Given the description of an element on the screen output the (x, y) to click on. 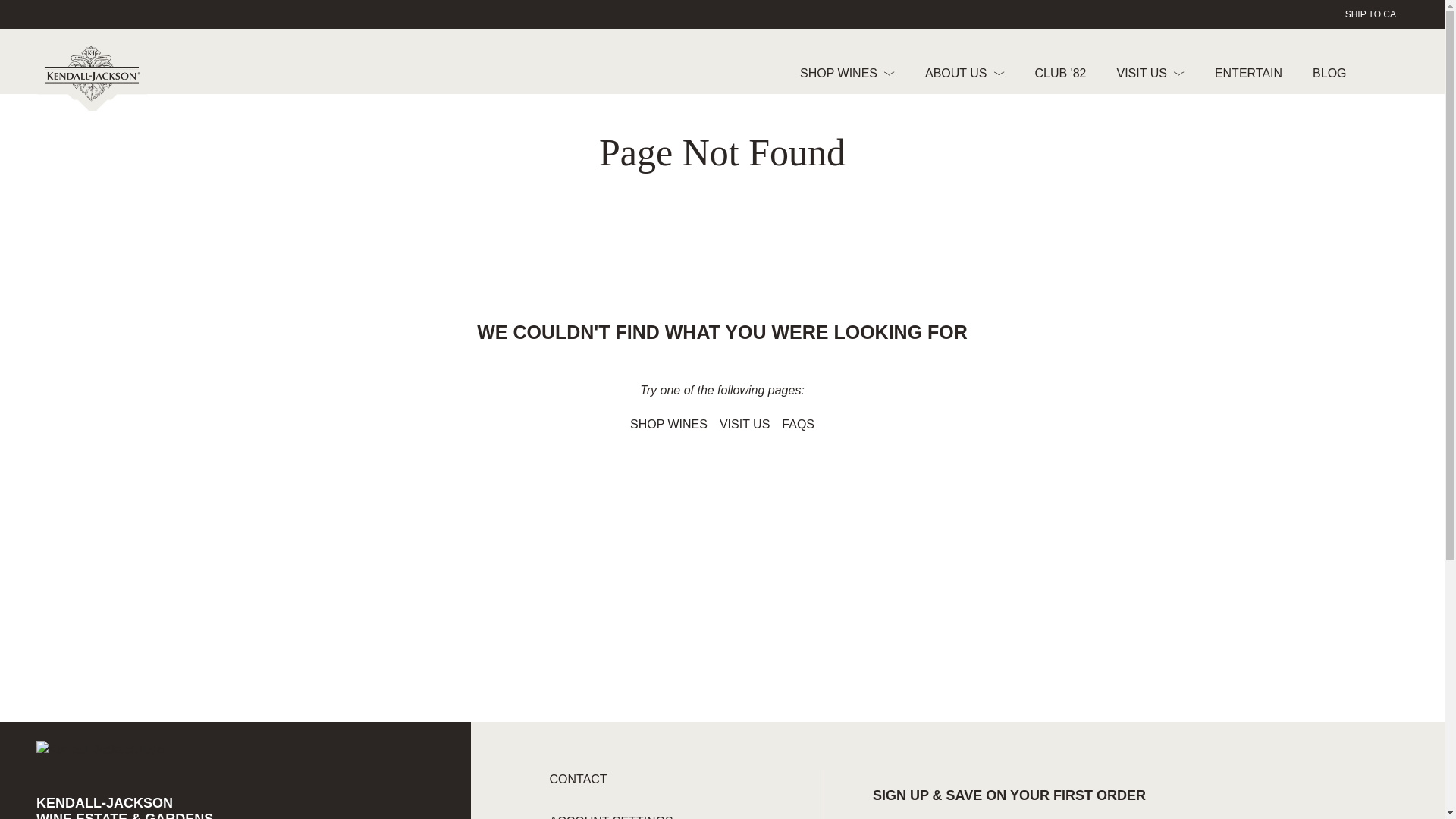
ABOUT US (964, 73)
Cart 0 Items (1414, 74)
logo homepage (92, 77)
SHOP WINES (847, 73)
